Given the description of an element on the screen output the (x, y) to click on. 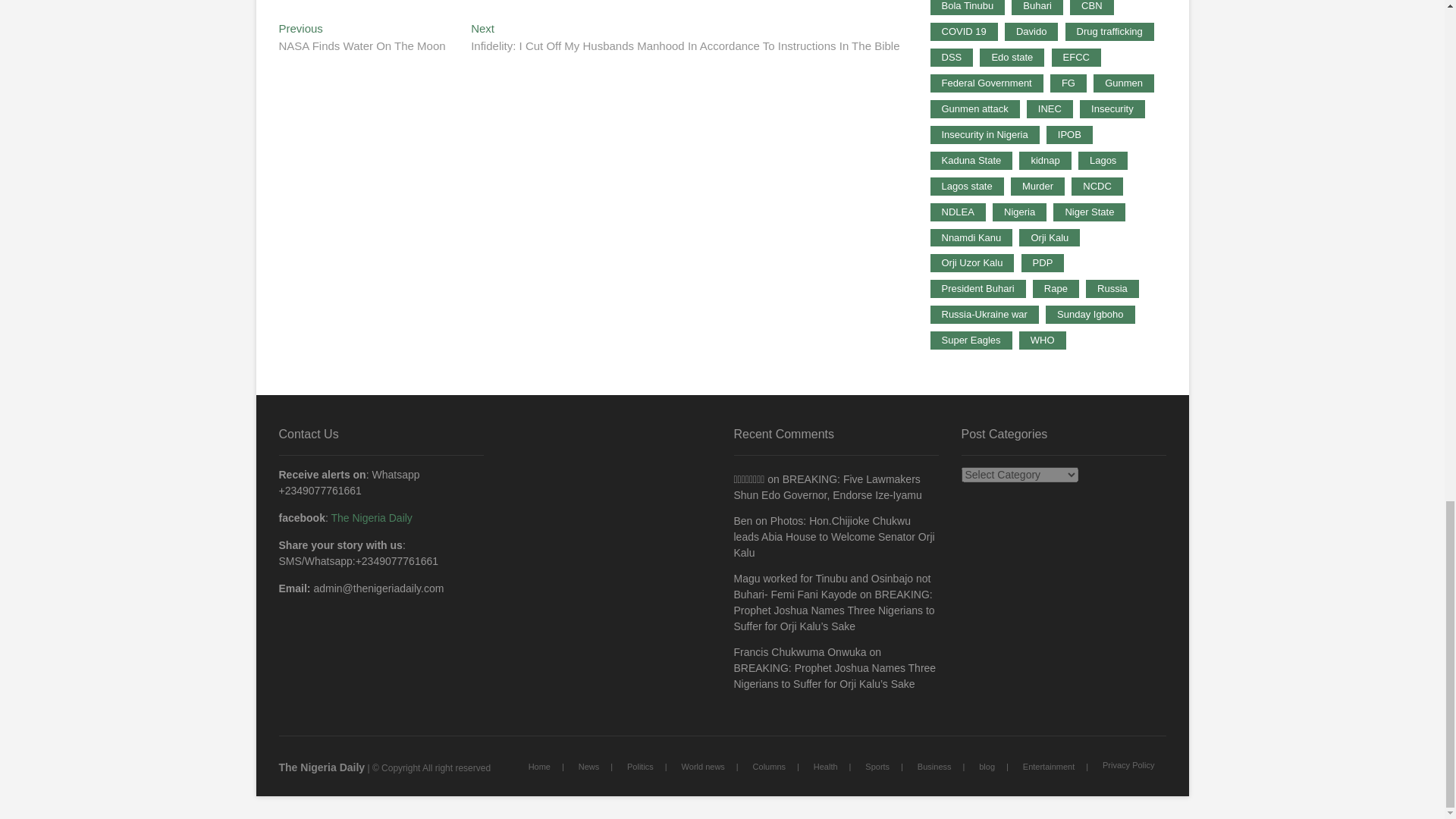
The Nigeria Daily (362, 38)
